Given the description of an element on the screen output the (x, y) to click on. 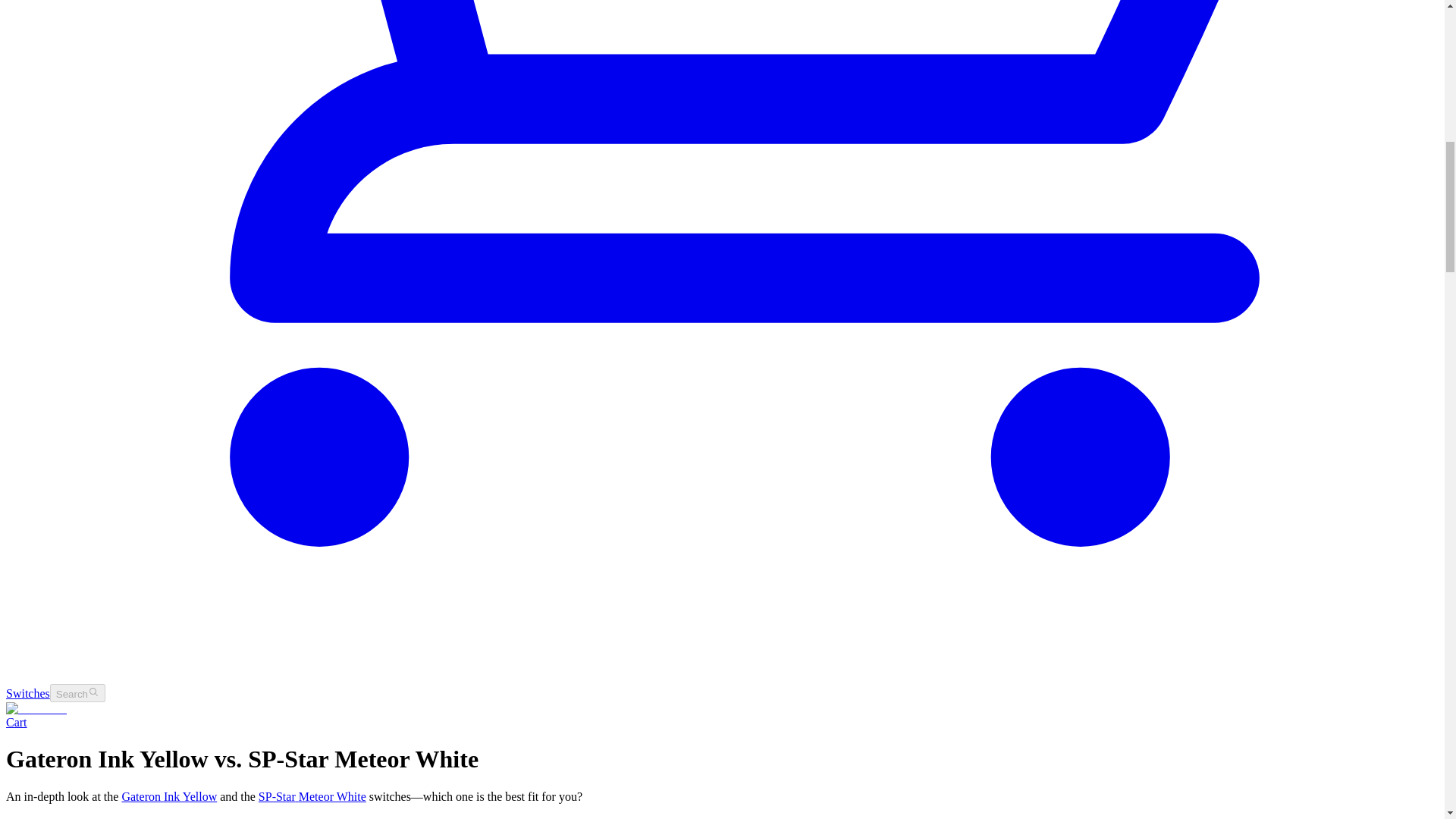
Search (76, 693)
Gateron Ink Yellow (168, 796)
Search (76, 692)
Switches (27, 693)
Cart (16, 721)
SP-Star Meteor White (312, 796)
